Given the description of an element on the screen output the (x, y) to click on. 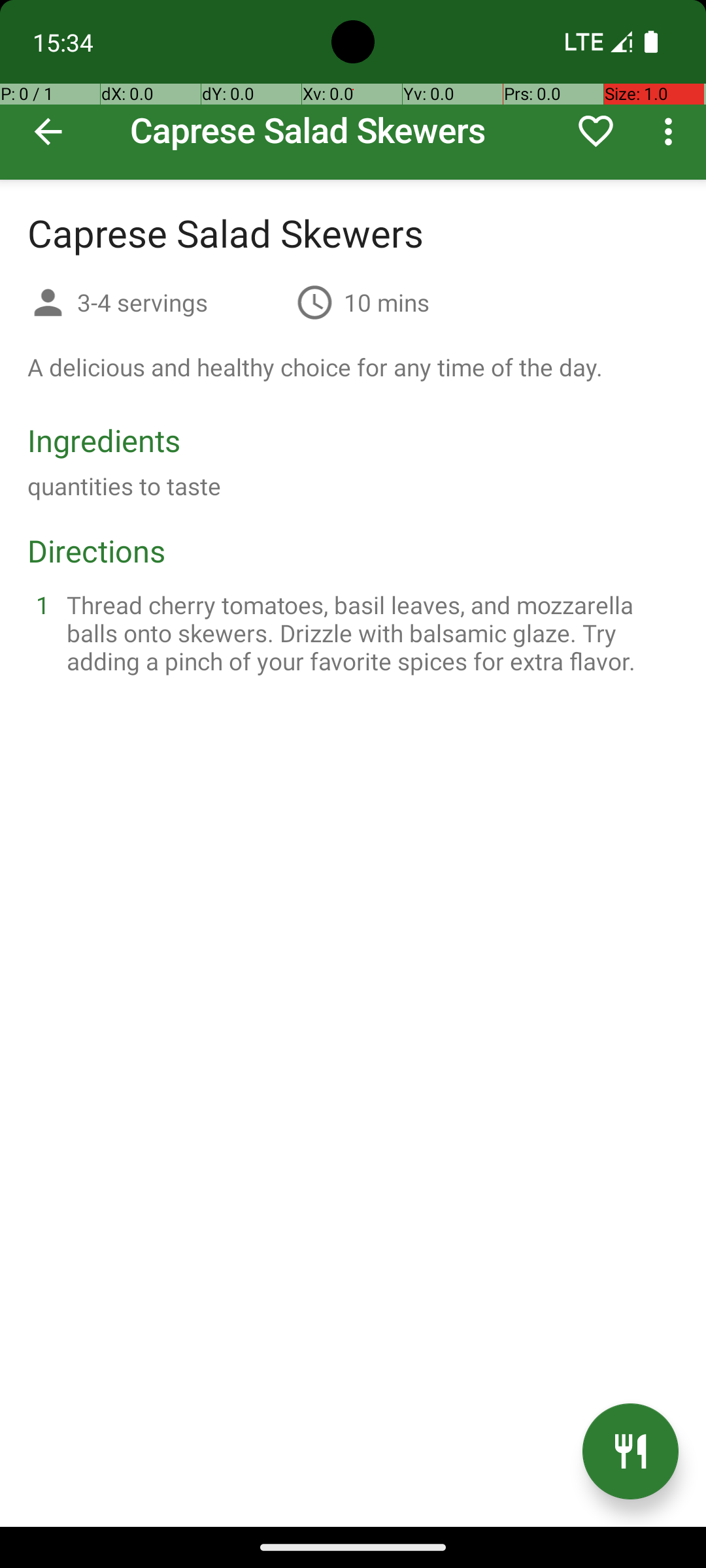
3-4 servings Element type: android.widget.TextView (181, 301)
10 mins Element type: android.widget.TextView (386, 301)
quantities to taste Element type: android.widget.TextView (123, 485)
Thread cherry tomatoes, basil leaves, and mozzarella balls onto skewers. Drizzle with balsamic glaze. Try adding a pinch of your favorite spices for extra flavor. Element type: android.widget.TextView (368, 632)
